Given the description of an element on the screen output the (x, y) to click on. 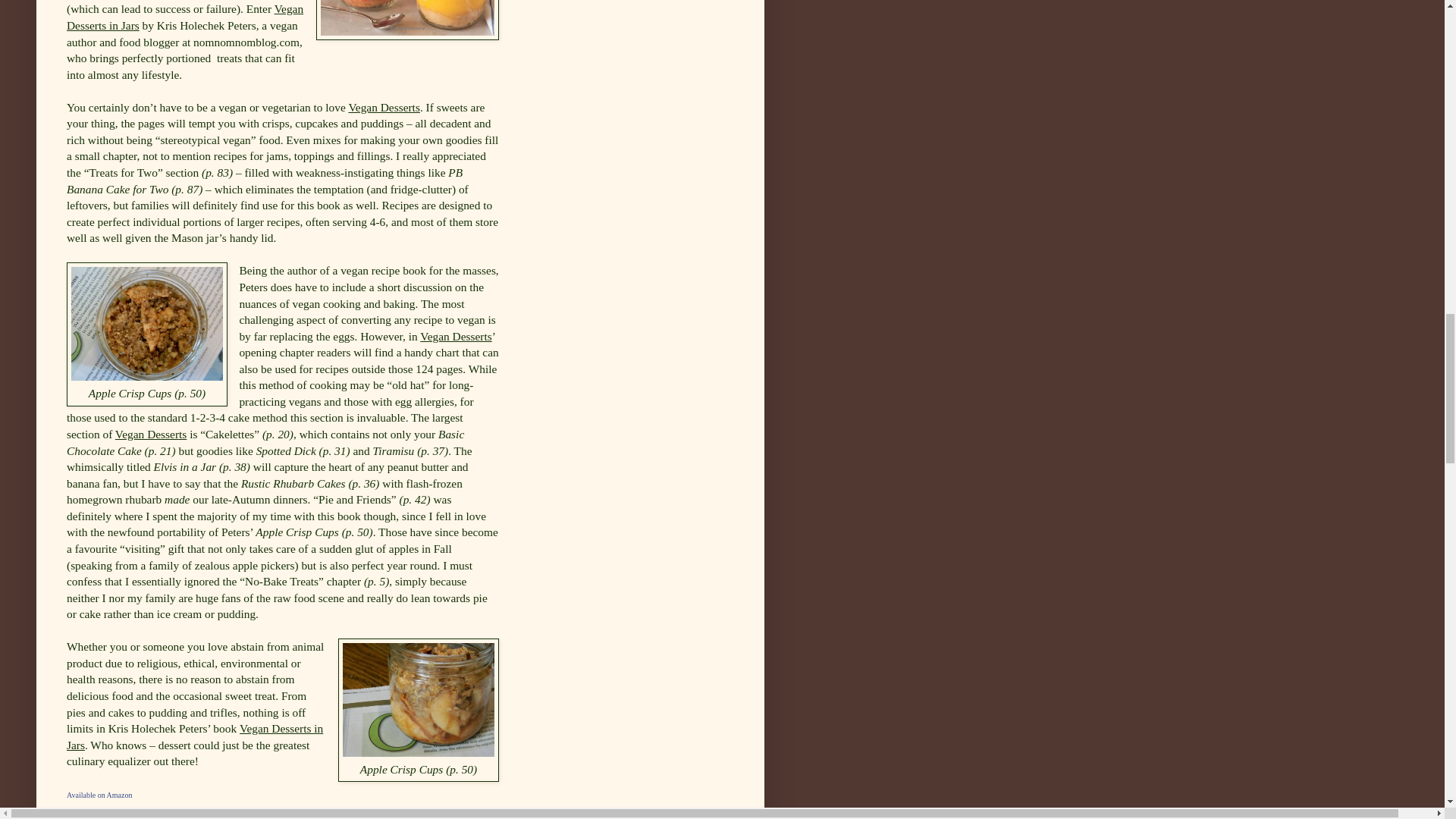
Apple Crisp in a Jar by jazzijava, on Flickr (146, 376)
Apple Crisp in a Jar by jazzijava, on Flickr (418, 752)
Available on Amazon (99, 795)
